Given the description of an element on the screen output the (x, y) to click on. 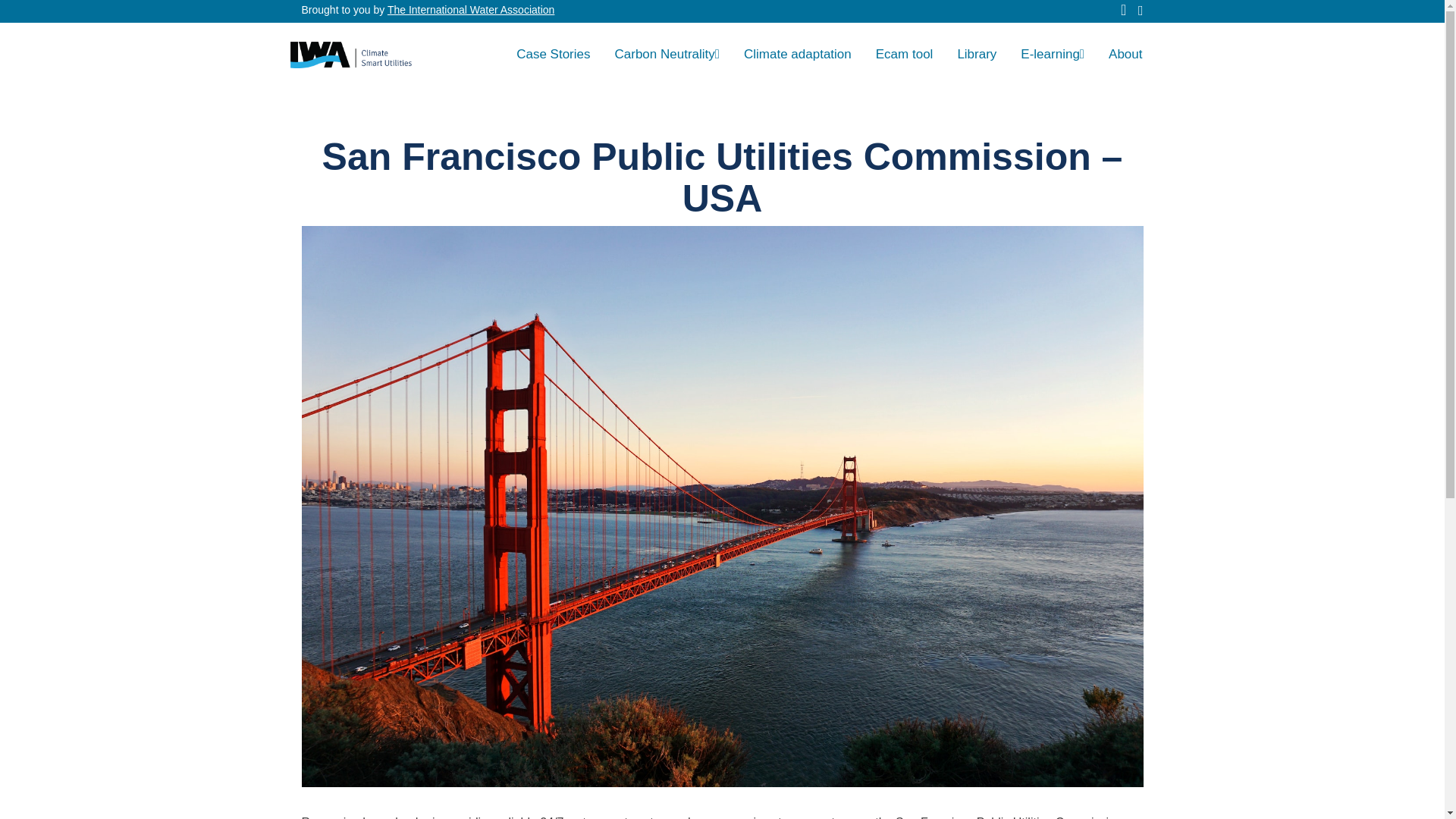
About (1125, 54)
The International Water Association (470, 9)
Climate adaptation (797, 54)
Carbon Neutrality (667, 54)
E-learning (1052, 54)
Ecam tool (903, 54)
Case Stories (552, 54)
Library (976, 54)
